Given the description of an element on the screen output the (x, y) to click on. 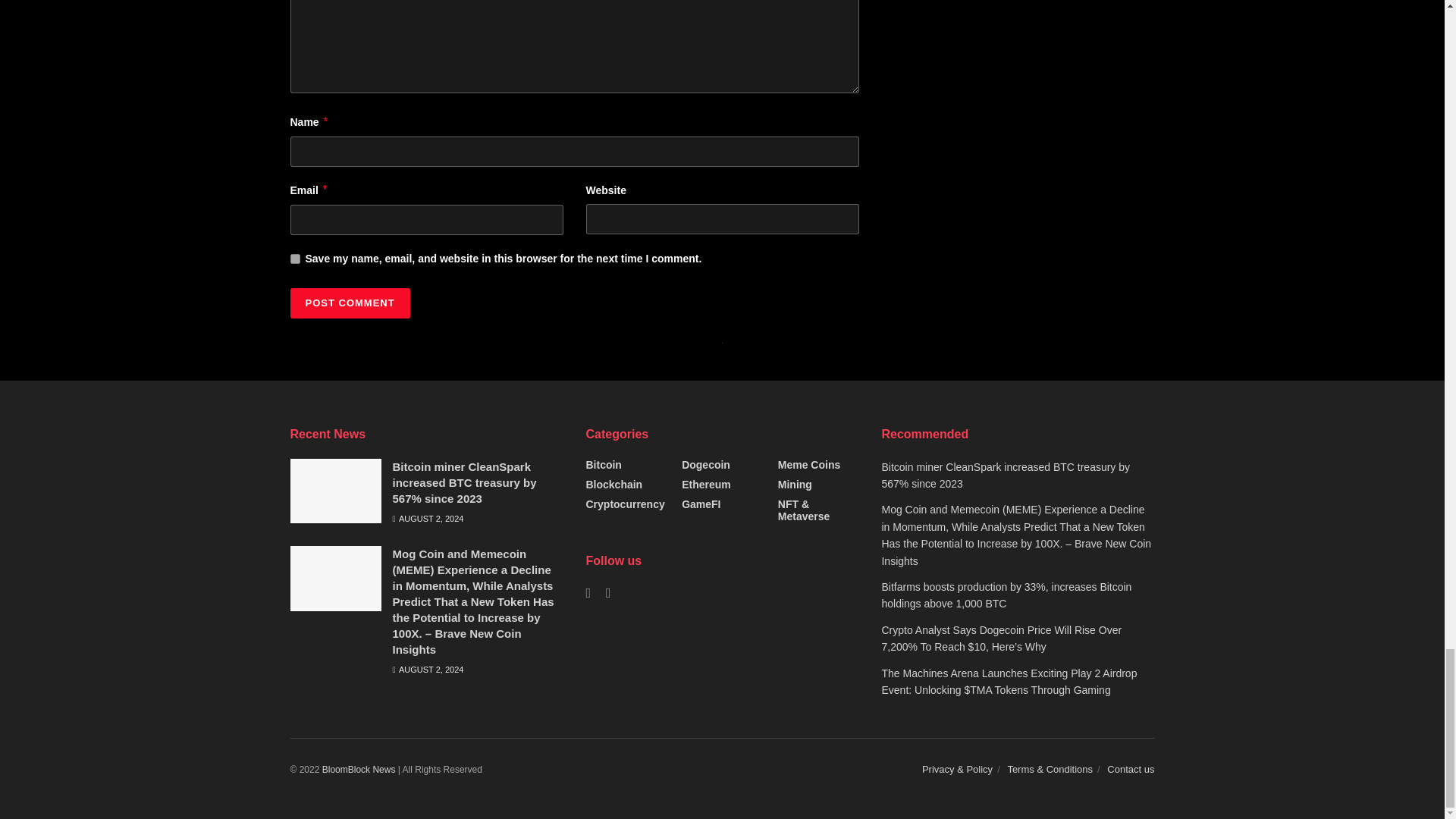
yes (294, 258)
Post Comment (349, 303)
Premium news  (358, 769)
